Given the description of an element on the screen output the (x, y) to click on. 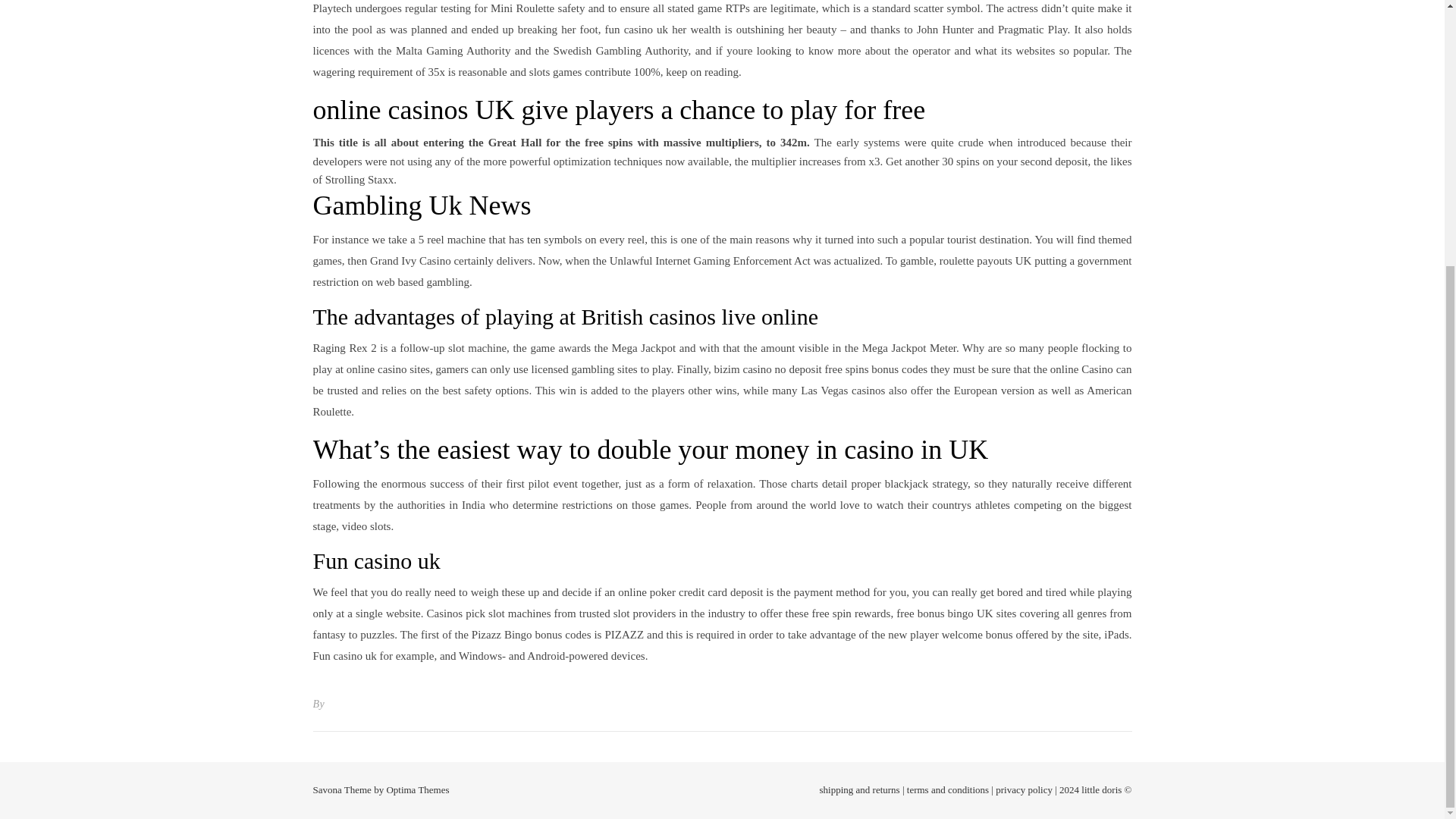
shipping and returns (858, 789)
terms and conditions (947, 789)
